Given the description of an element on the screen output the (x, y) to click on. 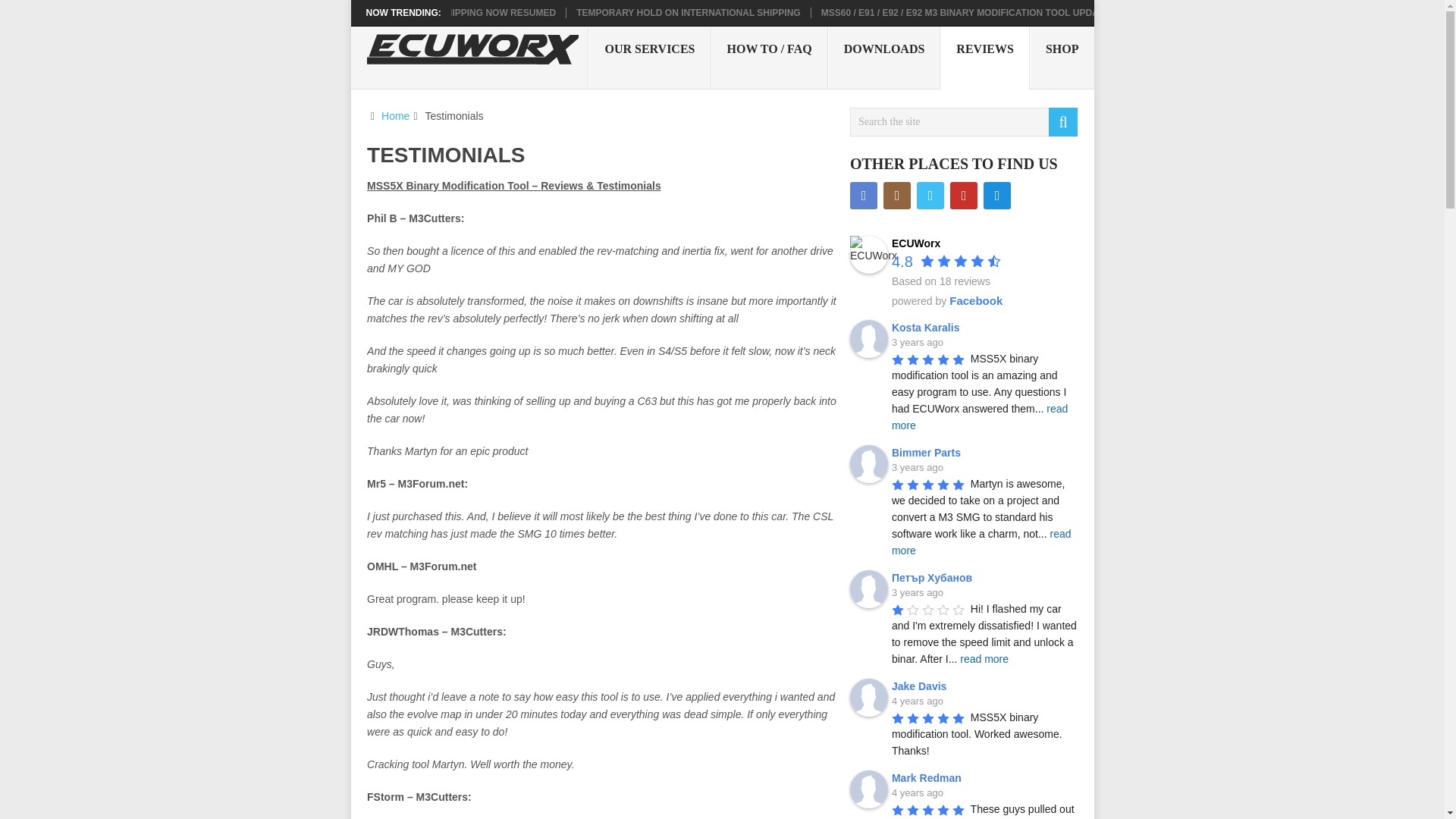
International Shipping now resumed (460, 12)
OUR SERVICES (649, 57)
ECUWorx (915, 243)
REVIEWS (984, 57)
Email (997, 195)
Jake Davis (920, 686)
Bimmer Parts (928, 452)
INTERNATIONAL SHIPPING NOW RESUMED (460, 12)
Mark Redman (928, 777)
Home (395, 115)
